Given the description of an element on the screen output the (x, y) to click on. 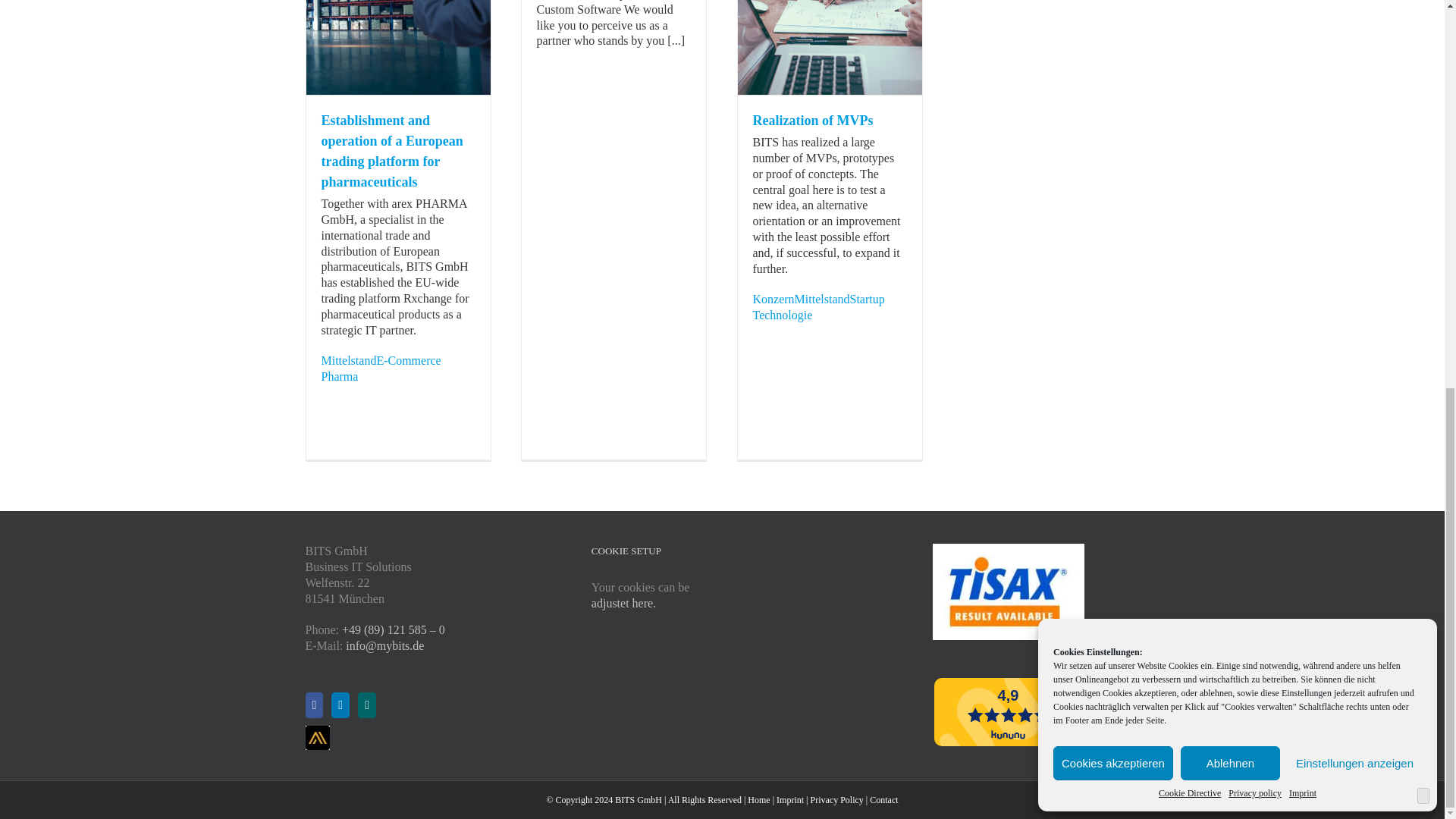
Cookies akzeptieren (1112, 28)
Imprint (1302, 59)
Cookie Directive (1189, 59)
Einstellungen anzeigen (1354, 28)
Privacy policy (1254, 59)
Ablehnen (1229, 28)
